Given the description of an element on the screen output the (x, y) to click on. 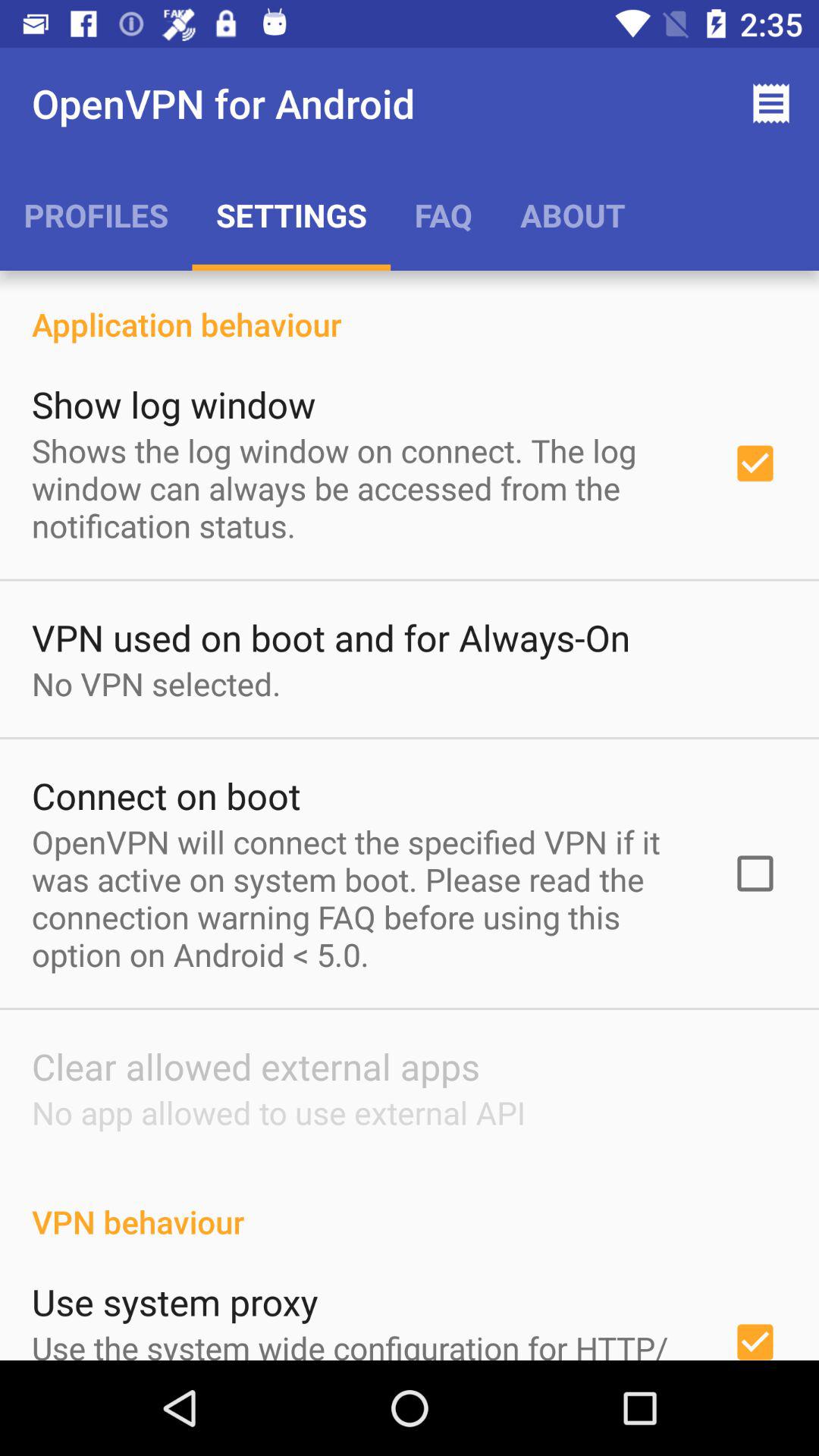
launch icon below the openvpn for android icon (96, 214)
